Given the description of an element on the screen output the (x, y) to click on. 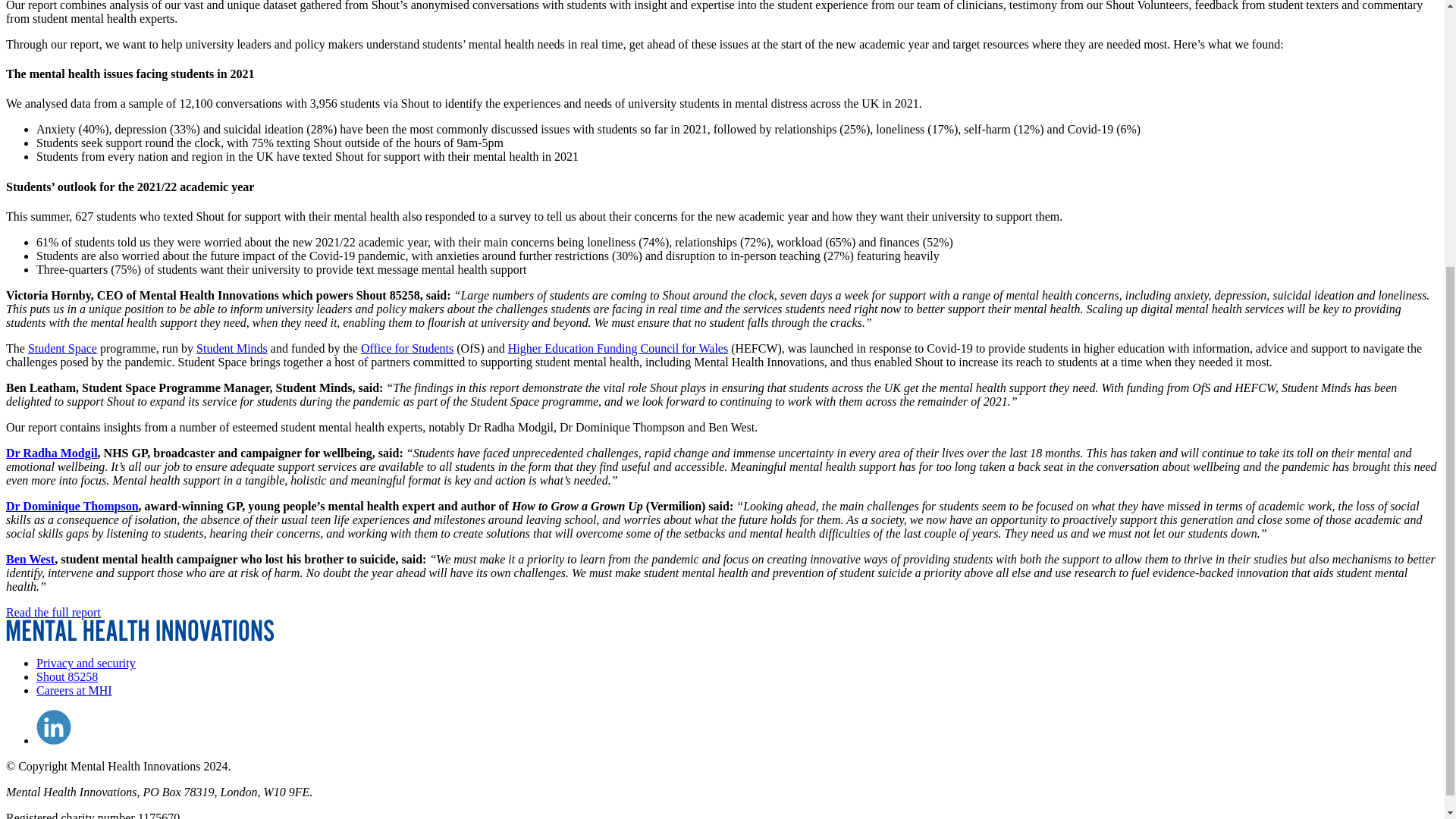
Read the full report (52, 612)
Student Space (62, 348)
Careers at MHI (74, 689)
Higher Education Funding Council for Wales (618, 348)
Dr Dominique Thompson (71, 505)
Dr Radha Modgil (51, 452)
Shout 85258 (66, 676)
Student Minds (231, 348)
Ben West (30, 558)
Privacy and security (85, 662)
Office for Students (406, 348)
